Given the description of an element on the screen output the (x, y) to click on. 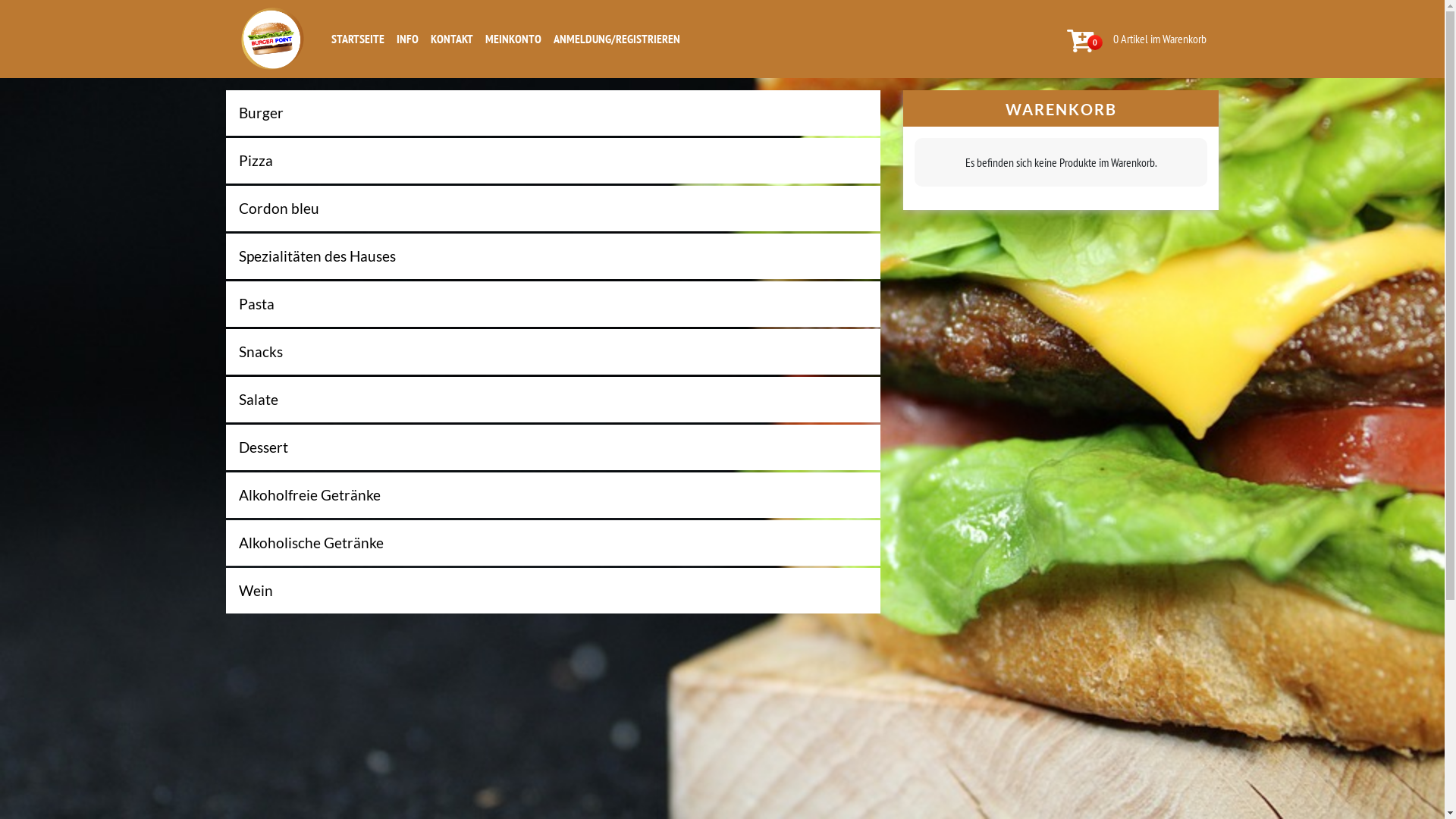
Salate Element type: text (552, 399)
Dessert Element type: text (552, 447)
Wein Element type: text (552, 590)
KONTAKT Element type: text (451, 38)
Pizza Element type: text (552, 160)
0
0 Artikel im Warenkorb Element type: text (1138, 38)
ANMELDUNG/REGISTRIEREN Element type: text (616, 38)
INFO Element type: text (406, 38)
MEINKONTO Element type: text (513, 38)
Pasta Element type: text (552, 303)
Cordon bleu Element type: text (552, 208)
STARTSEITE Element type: text (356, 38)
Snacks Element type: text (552, 351)
Burger Element type: text (552, 112)
